Given the description of an element on the screen output the (x, y) to click on. 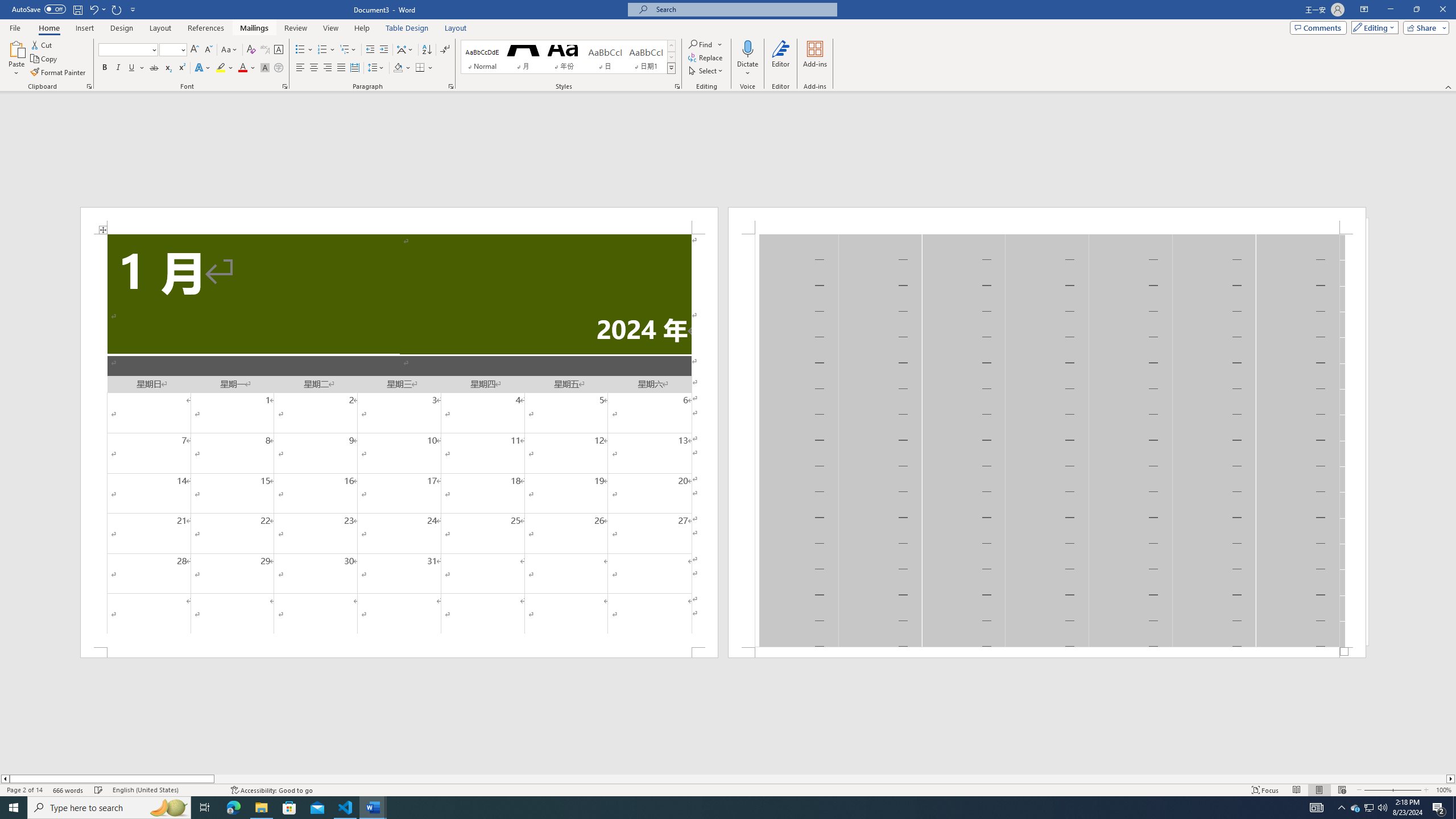
Undo Distribute Para (96, 9)
Column right (1450, 778)
